Given the description of an element on the screen output the (x, y) to click on. 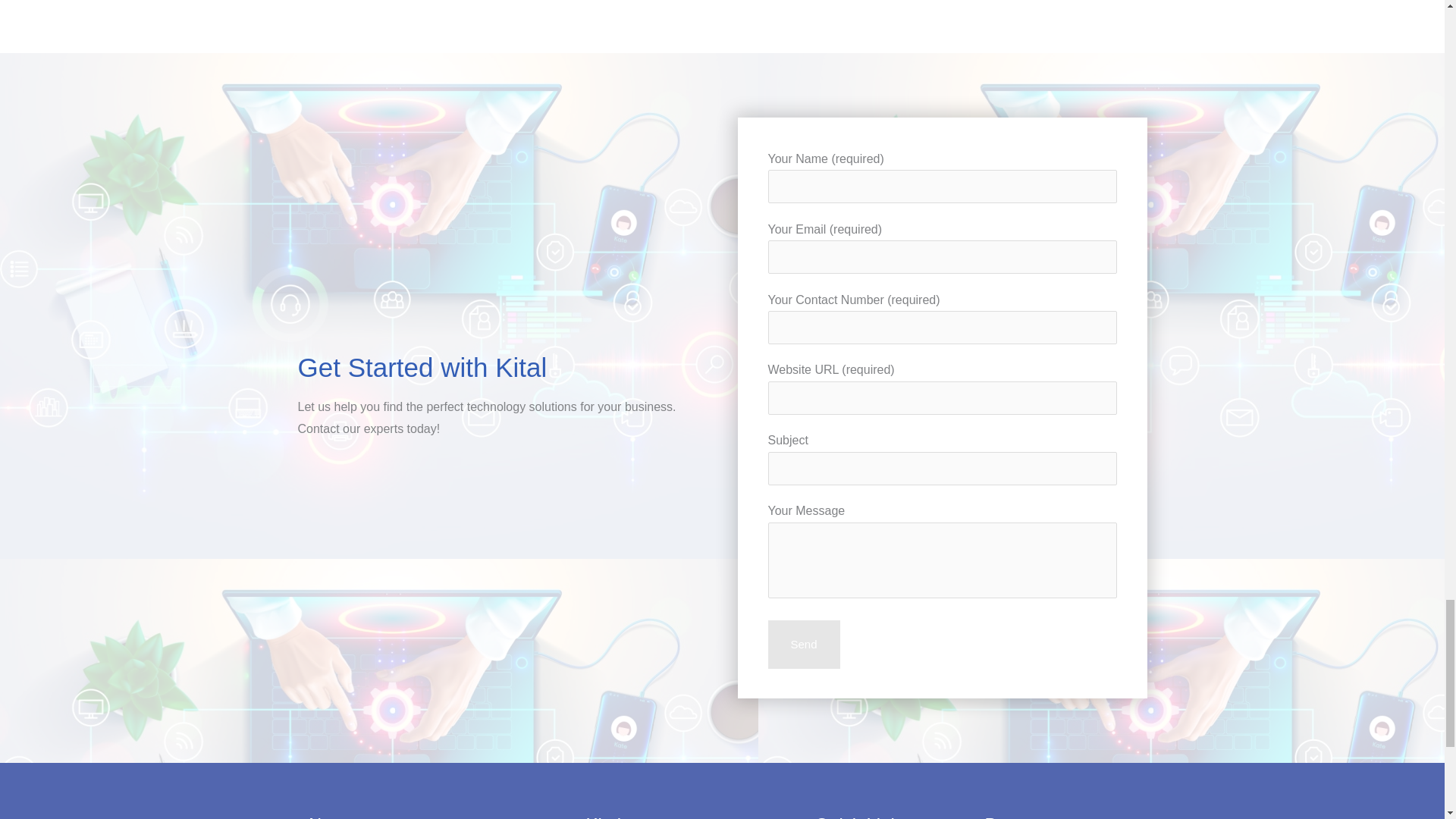
Send (803, 644)
